Given the description of an element on the screen output the (x, y) to click on. 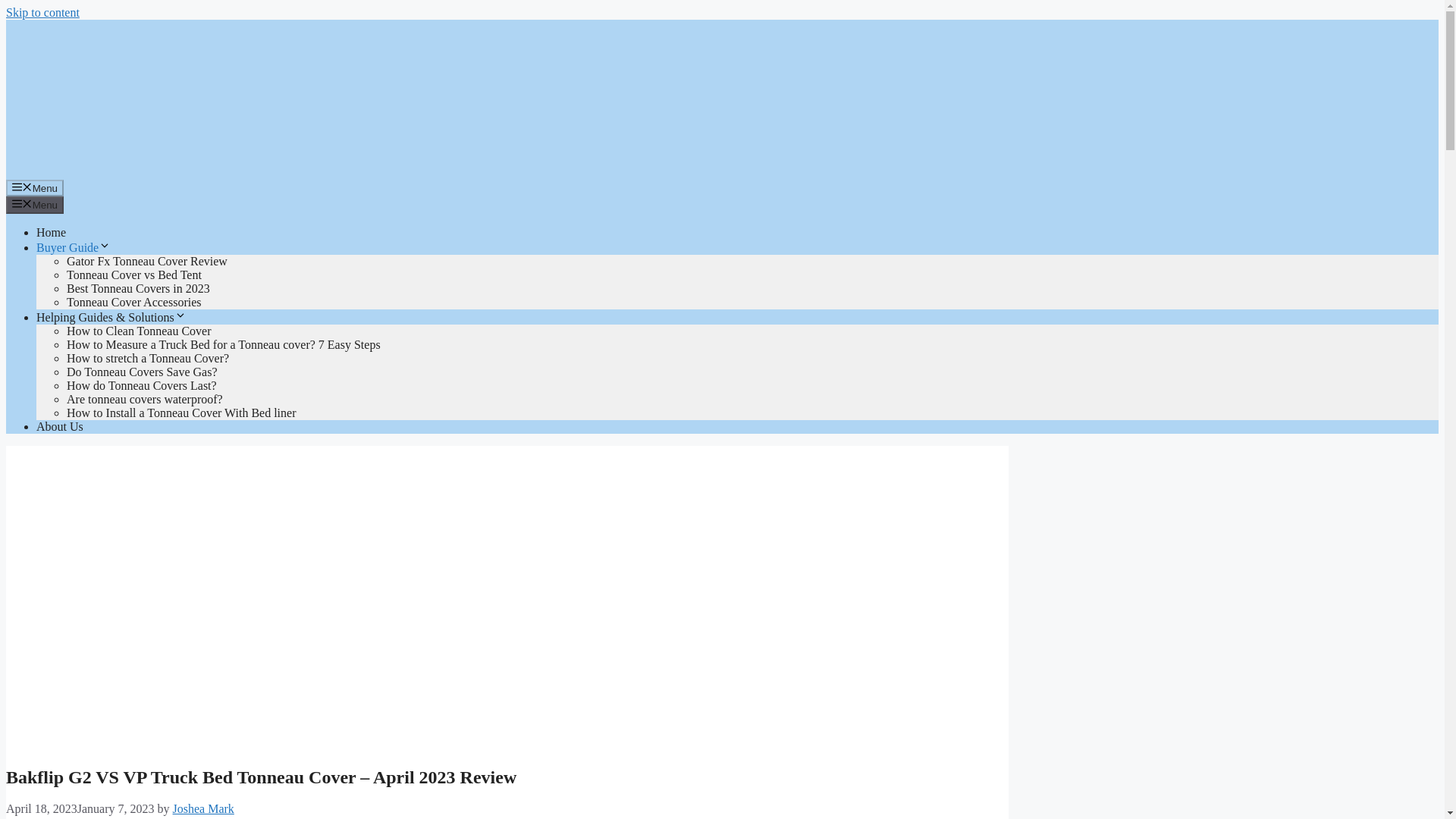
How to stretch a Tonneau Cover? (147, 358)
Menu (34, 204)
View all posts by Joshea Mark (203, 808)
Best Tonneau Covers in 2023 (137, 287)
How to Measure a Truck Bed for a Tonneau cover? 7 Easy Steps (223, 344)
Joshea Mark (203, 808)
Do Tonneau Covers Save Gas? (141, 371)
Tonneau Cover vs Bed Tent (134, 274)
How do Tonneau Covers Last? (141, 385)
Menu (34, 187)
